Given the description of an element on the screen output the (x, y) to click on. 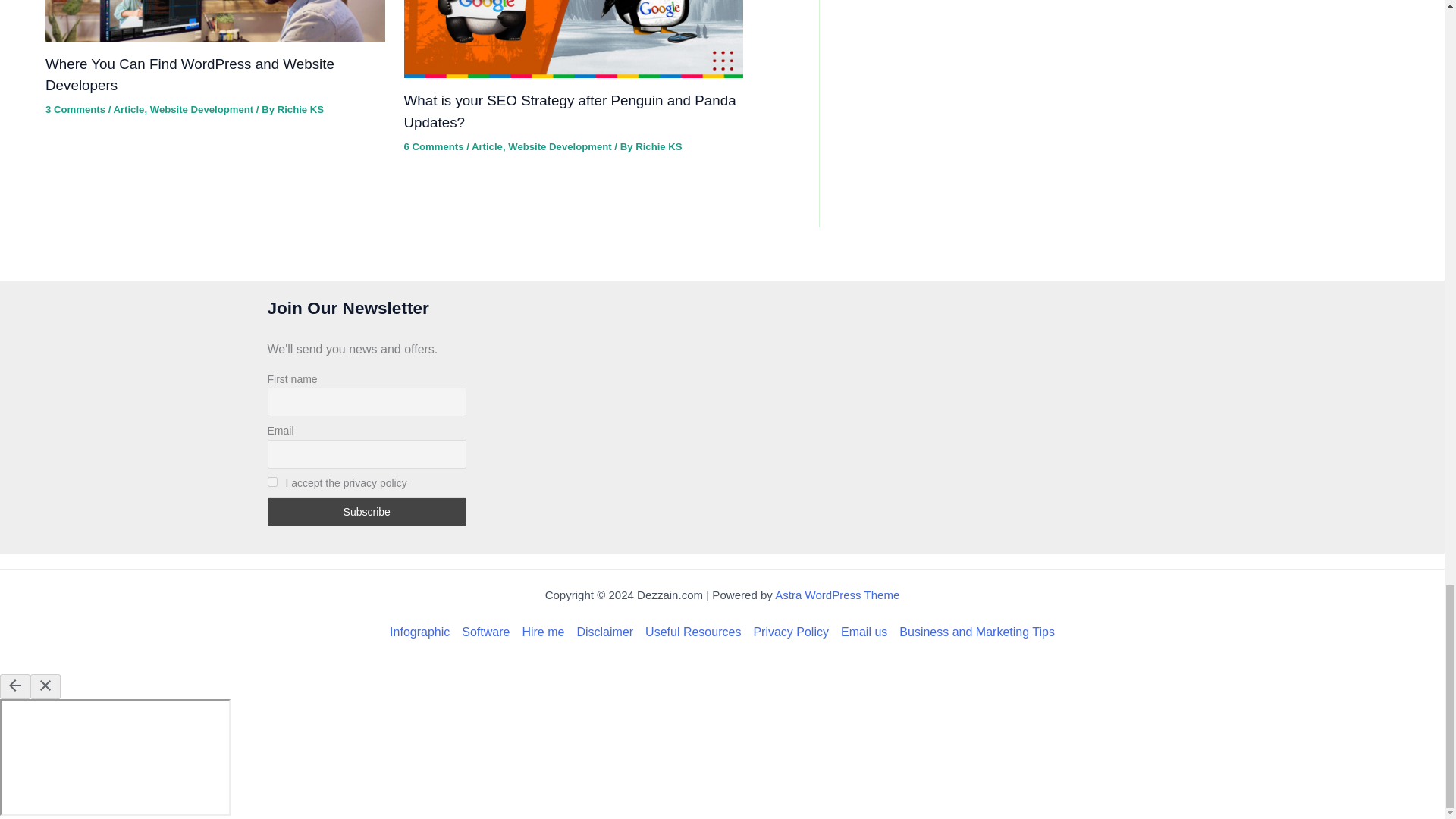
Website Development (201, 109)
Article (128, 109)
Where You Can Find WordPress and Website Developers (189, 74)
View all posts by Richie KS (657, 146)
3 Comments (74, 109)
Richie KS (300, 109)
on (271, 481)
View all posts by Richie KS (300, 109)
Subscribe (365, 511)
What is your SEO Strategy after Penguin and Panda Updates? (569, 110)
